Given the description of an element on the screen output the (x, y) to click on. 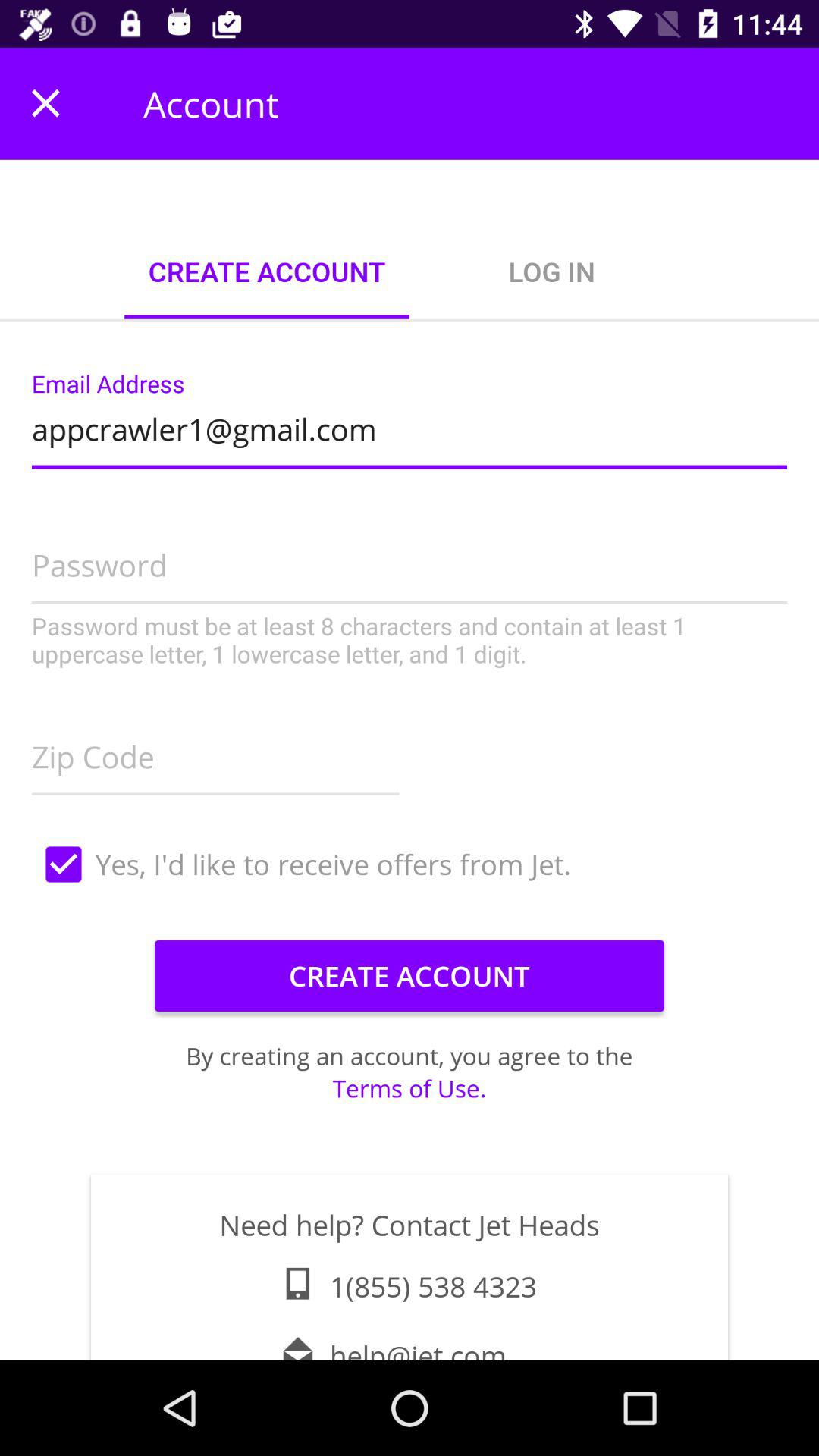
choose item on the left (215, 752)
